Given the description of an element on the screen output the (x, y) to click on. 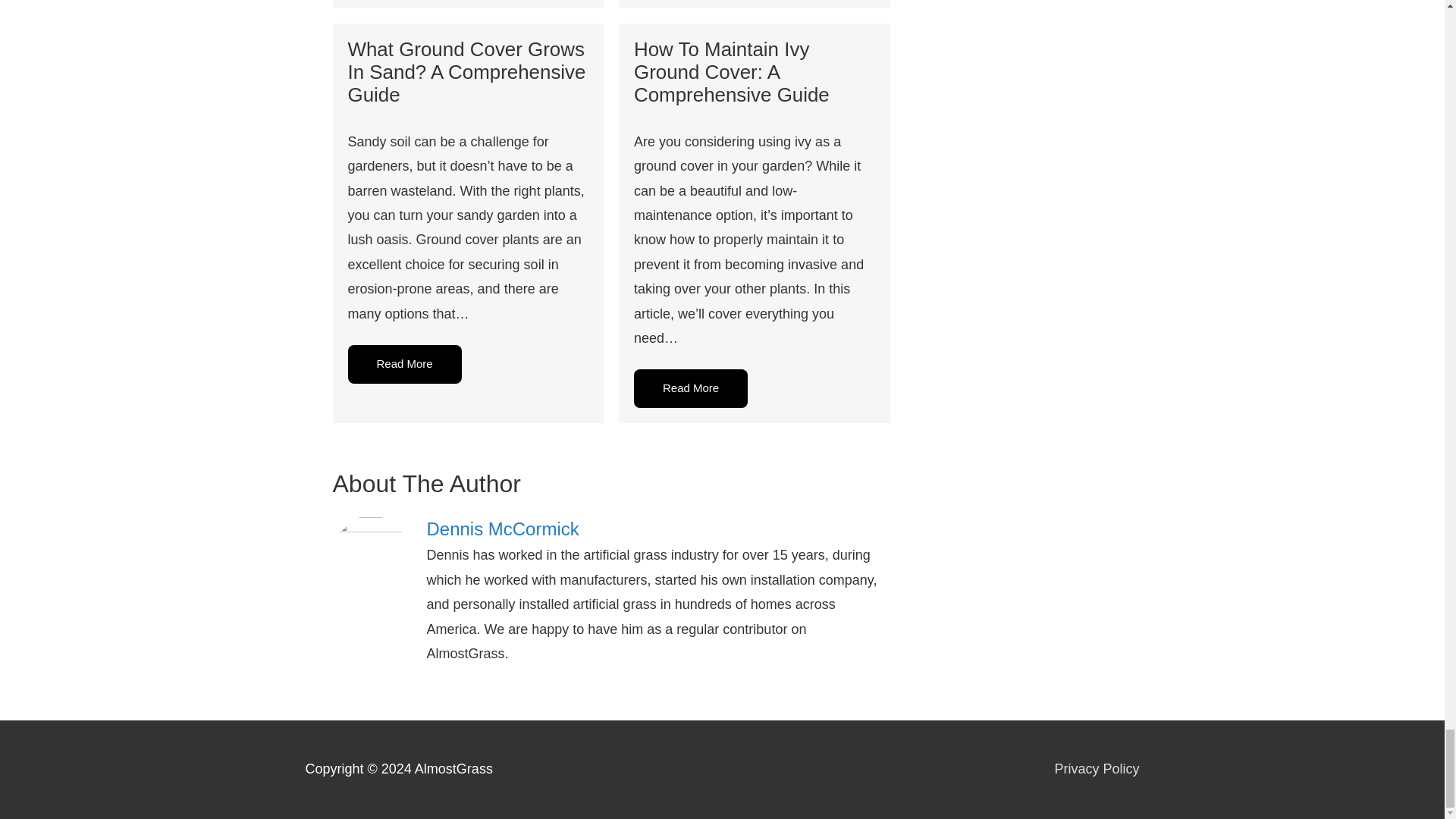
Dennis McCormick (657, 528)
Read More (404, 364)
Privacy Policy (1096, 768)
What Ground Cover Grows In Sand? A Comprehensive Guide (466, 71)
Read More (690, 388)
How To Maintain Ivy Ground Cover: A Comprehensive Guide (731, 71)
